Given the description of an element on the screen output the (x, y) to click on. 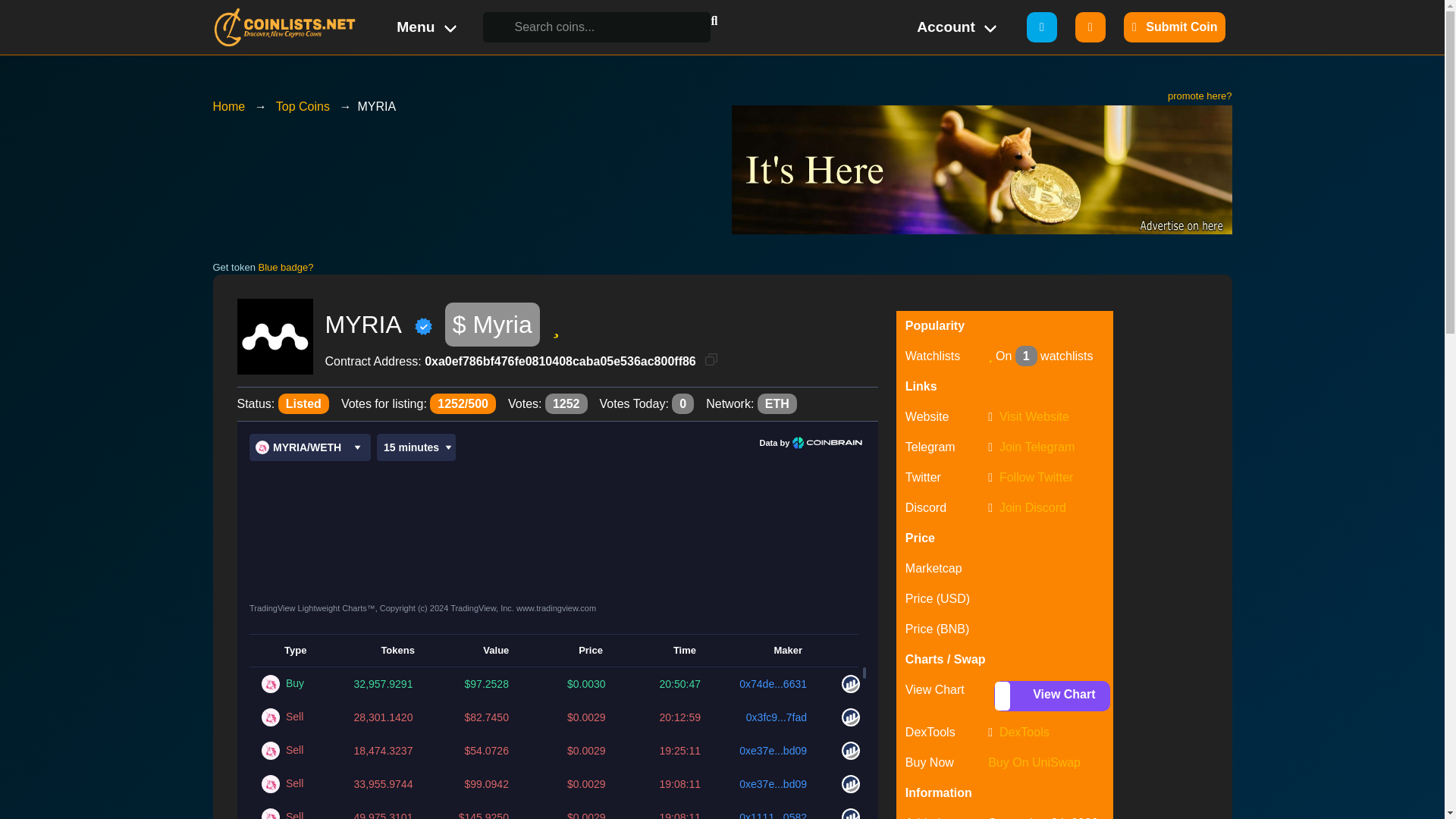
Home (228, 106)
Account (954, 27)
View Chart (1051, 695)
Submit Coin (1174, 27)
promote here? (1199, 95)
Join Telegram (1036, 446)
Top Coins (301, 106)
Visit Website (1033, 416)
Follow Twitter (1036, 477)
Menu (424, 27)
Join Discord (1031, 507)
Blue badge? (285, 266)
